Given the description of an element on the screen output the (x, y) to click on. 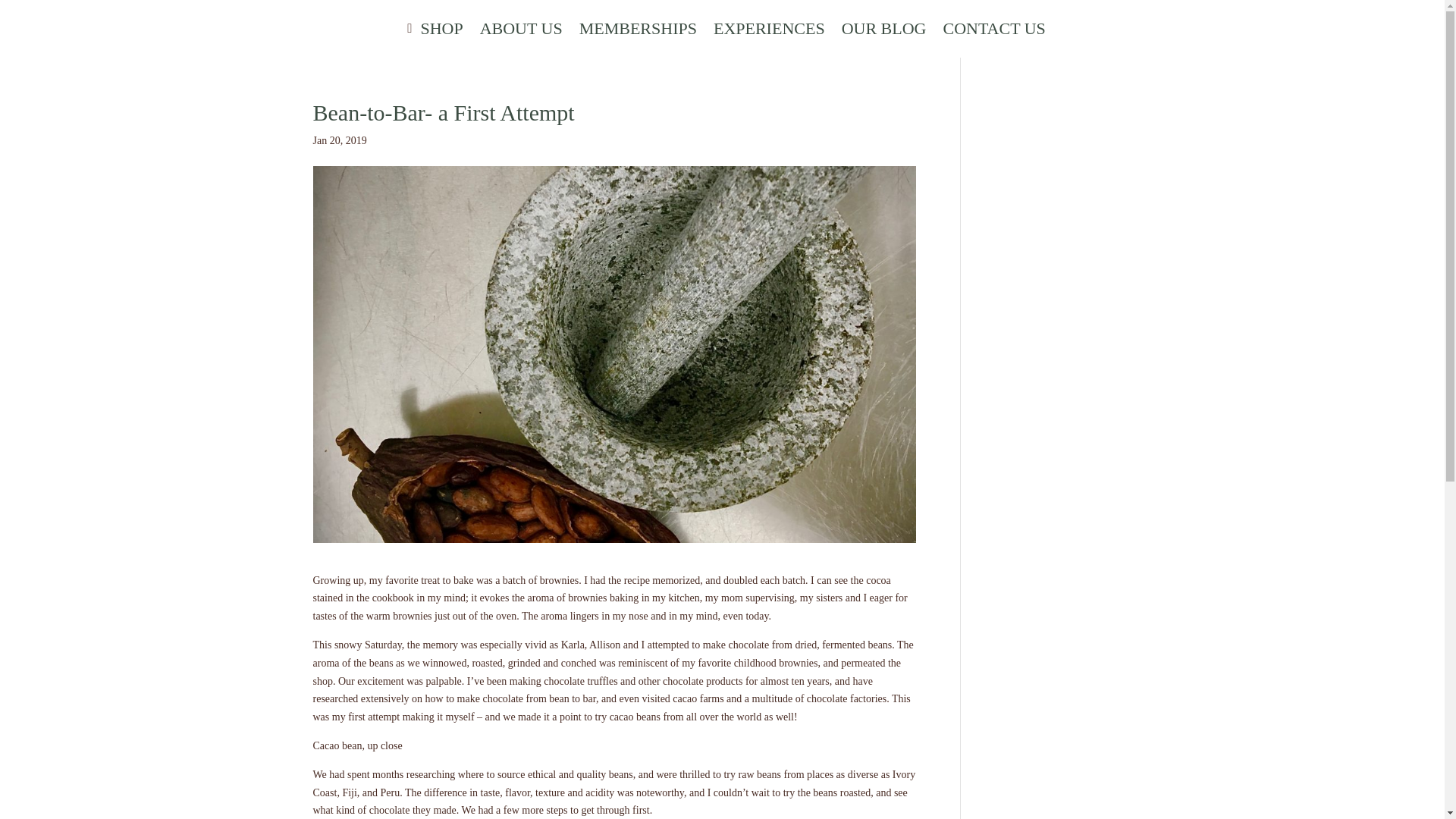
CONTACT US (993, 28)
MEMBERSHIPS (638, 28)
SHOP (441, 28)
OUR BLOG (883, 28)
ABOUT US (521, 28)
EXPERIENCES (769, 28)
